Given the description of an element on the screen output the (x, y) to click on. 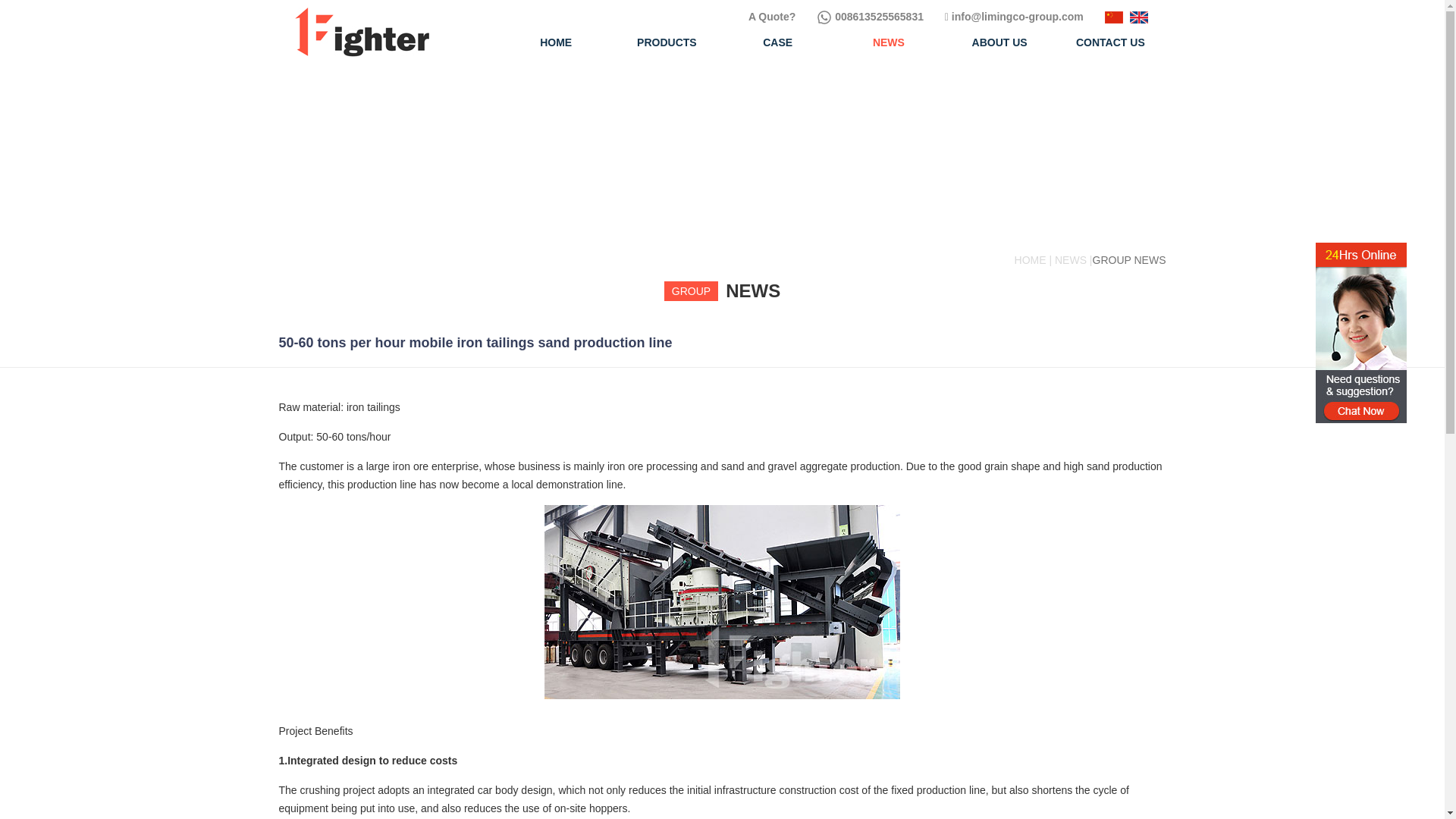
Chinese (1113, 17)
English (1138, 17)
PRODUCTS (666, 39)
HOME (555, 39)
CASE (777, 39)
A Quote? (772, 16)
008613525565831 (869, 16)
NEWS (887, 39)
ABOUT US (998, 39)
CONTACT US (1110, 39)
